Given the description of an element on the screen output the (x, y) to click on. 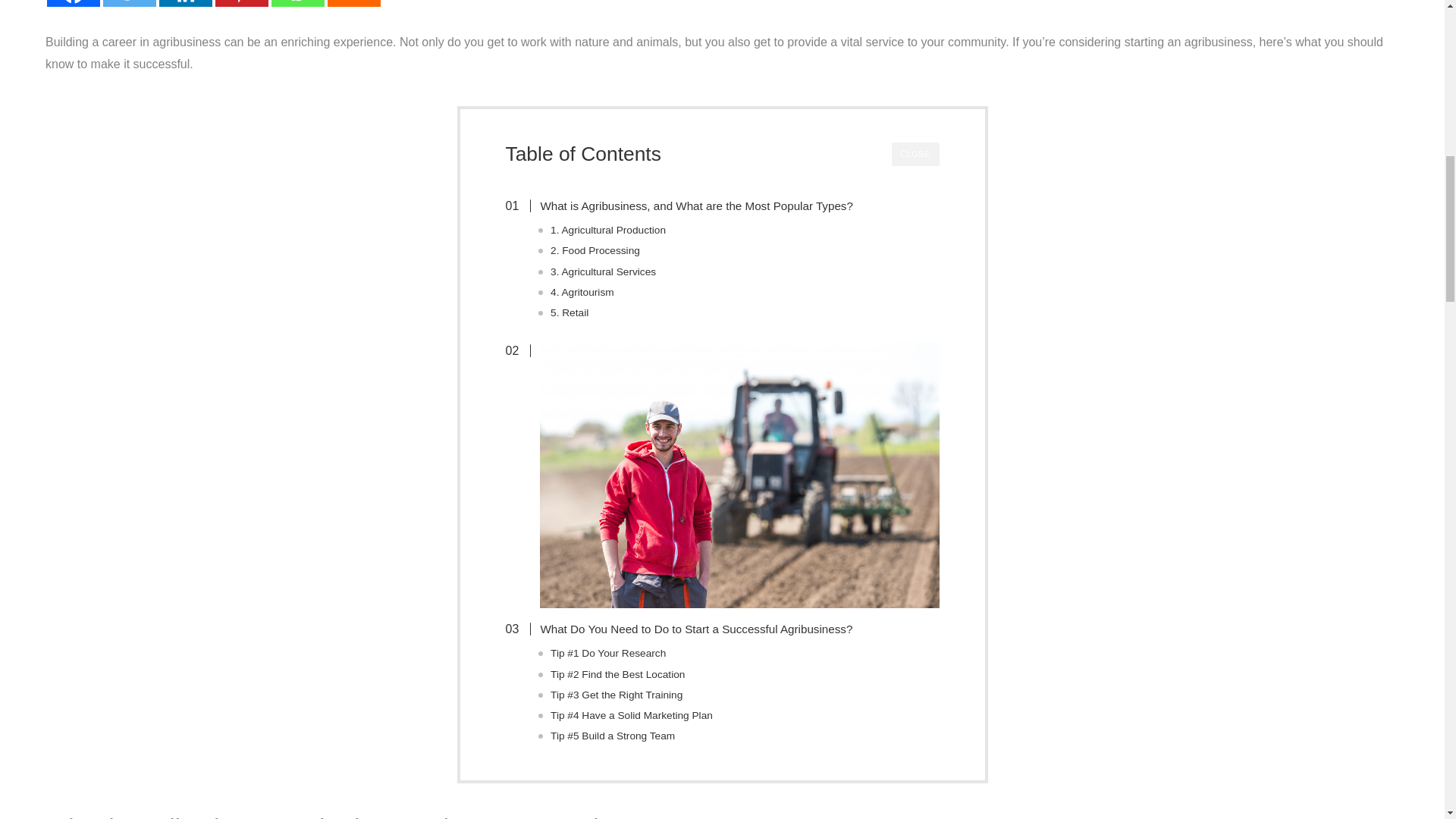
3. Agricultural Services (603, 271)
Linkedin (185, 3)
What Do You Need to Do to Start a Successful Agribusiness? (686, 628)
Twitter (129, 3)
2. Food Processing (595, 250)
Pinterest (241, 3)
Whatsapp (297, 3)
5. Retail (569, 312)
Facebook (73, 3)
A Successful Entrepreneur (739, 474)
